Given the description of an element on the screen output the (x, y) to click on. 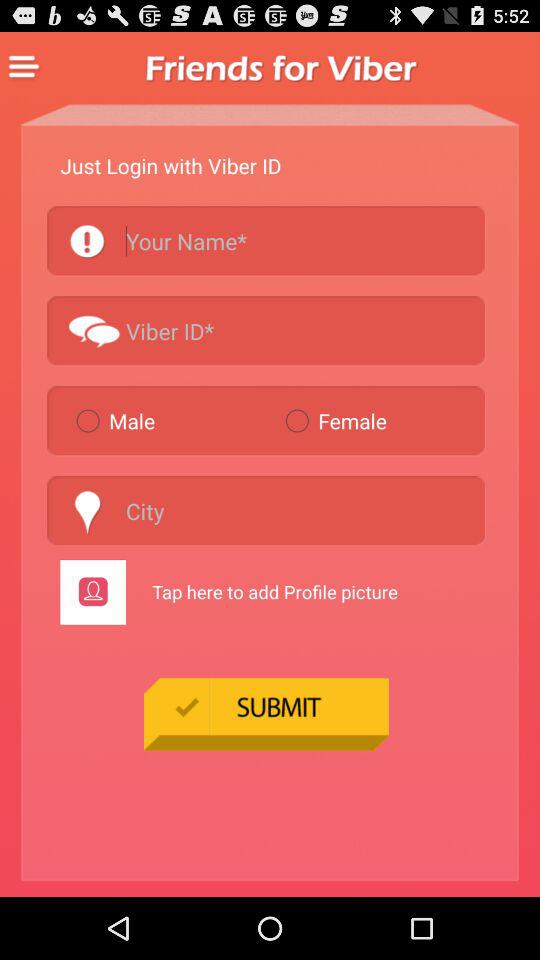
enter text for your name (266, 240)
